Given the description of an element on the screen output the (x, y) to click on. 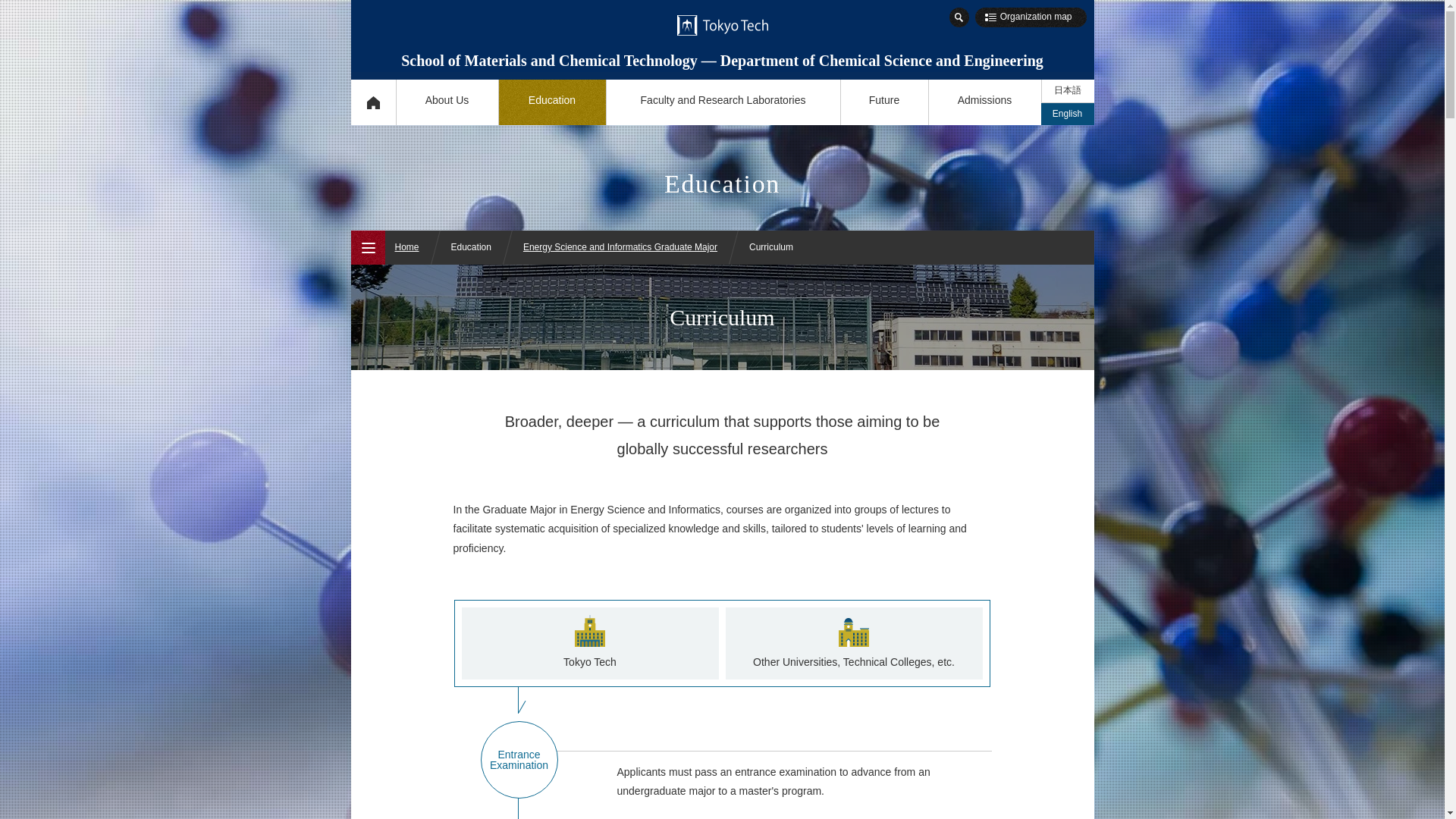
Top Page (372, 102)
English (1067, 114)
Admissions (984, 102)
Future (884, 102)
Faculty and Research Laboratories (722, 102)
Organization map (1030, 17)
Education (551, 102)
About Us (446, 102)
